Given the description of an element on the screen output the (x, y) to click on. 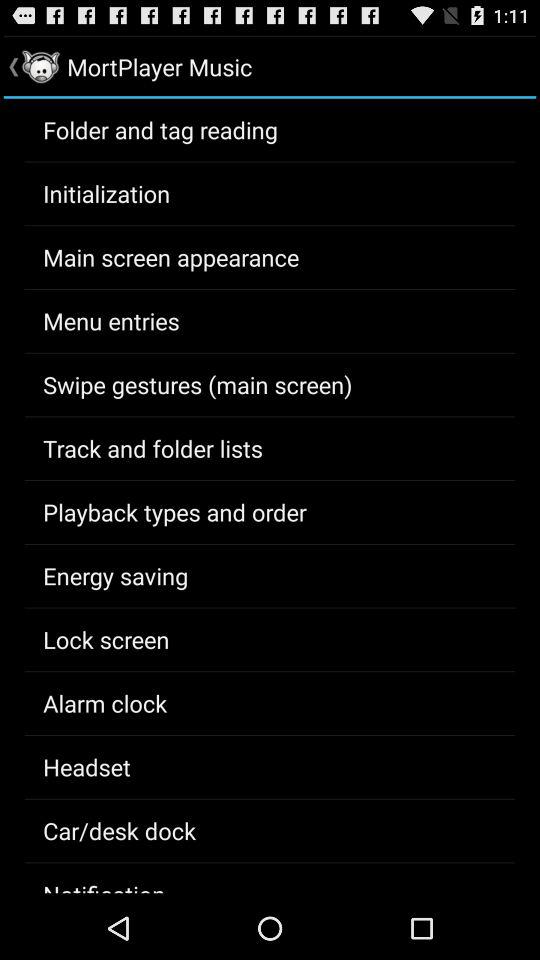
press the app below track and folder icon (174, 512)
